Given the description of an element on the screen output the (x, y) to click on. 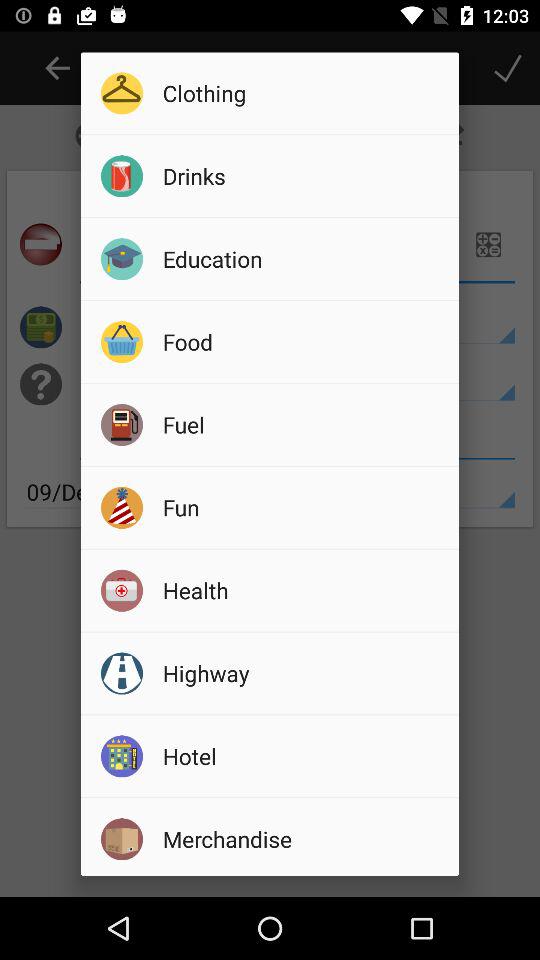
select icon above the drinks icon (303, 92)
